Given the description of an element on the screen output the (x, y) to click on. 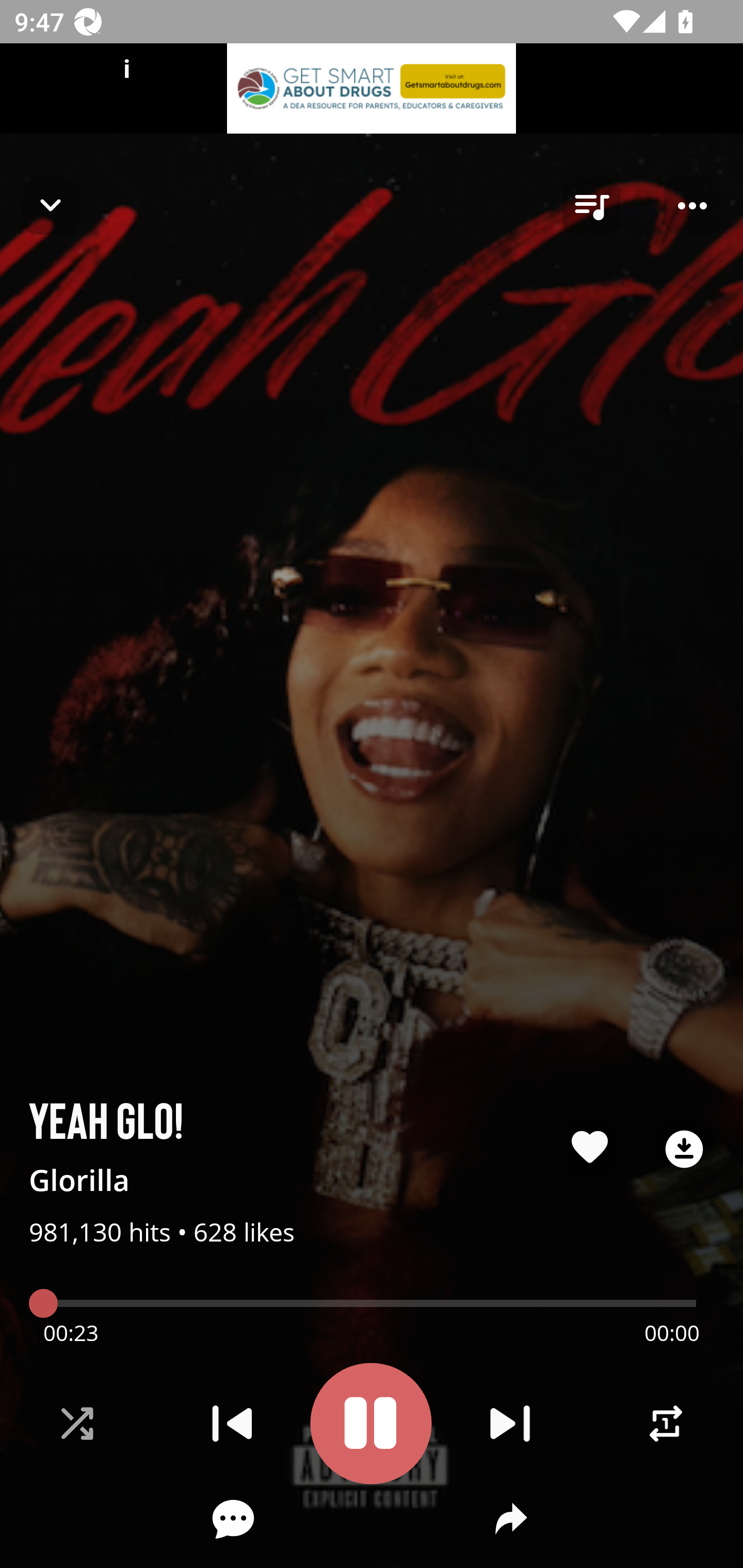
Navigate up (50, 205)
queue (590, 206)
Player options (692, 206)
